Given the description of an element on the screen output the (x, y) to click on. 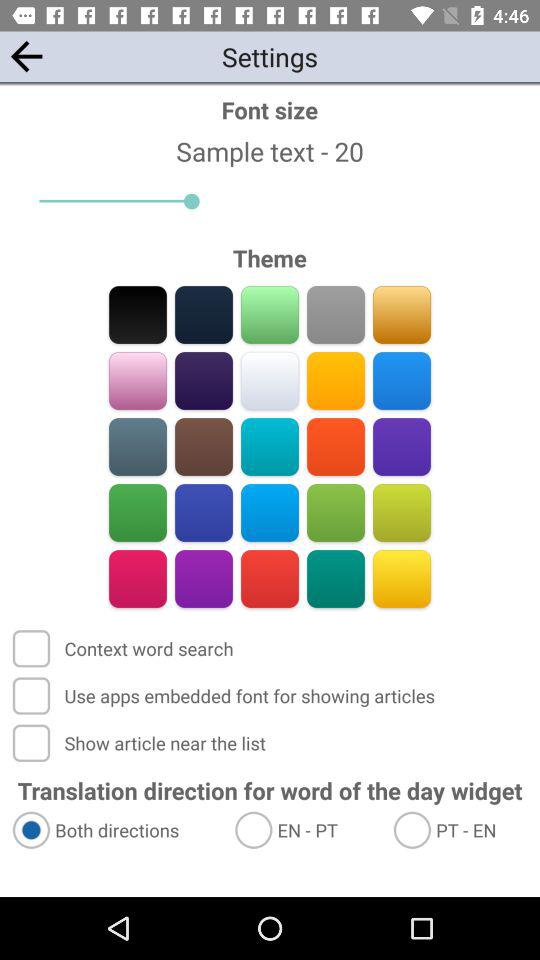
jump until context word search (124, 648)
